Given the description of an element on the screen output the (x, y) to click on. 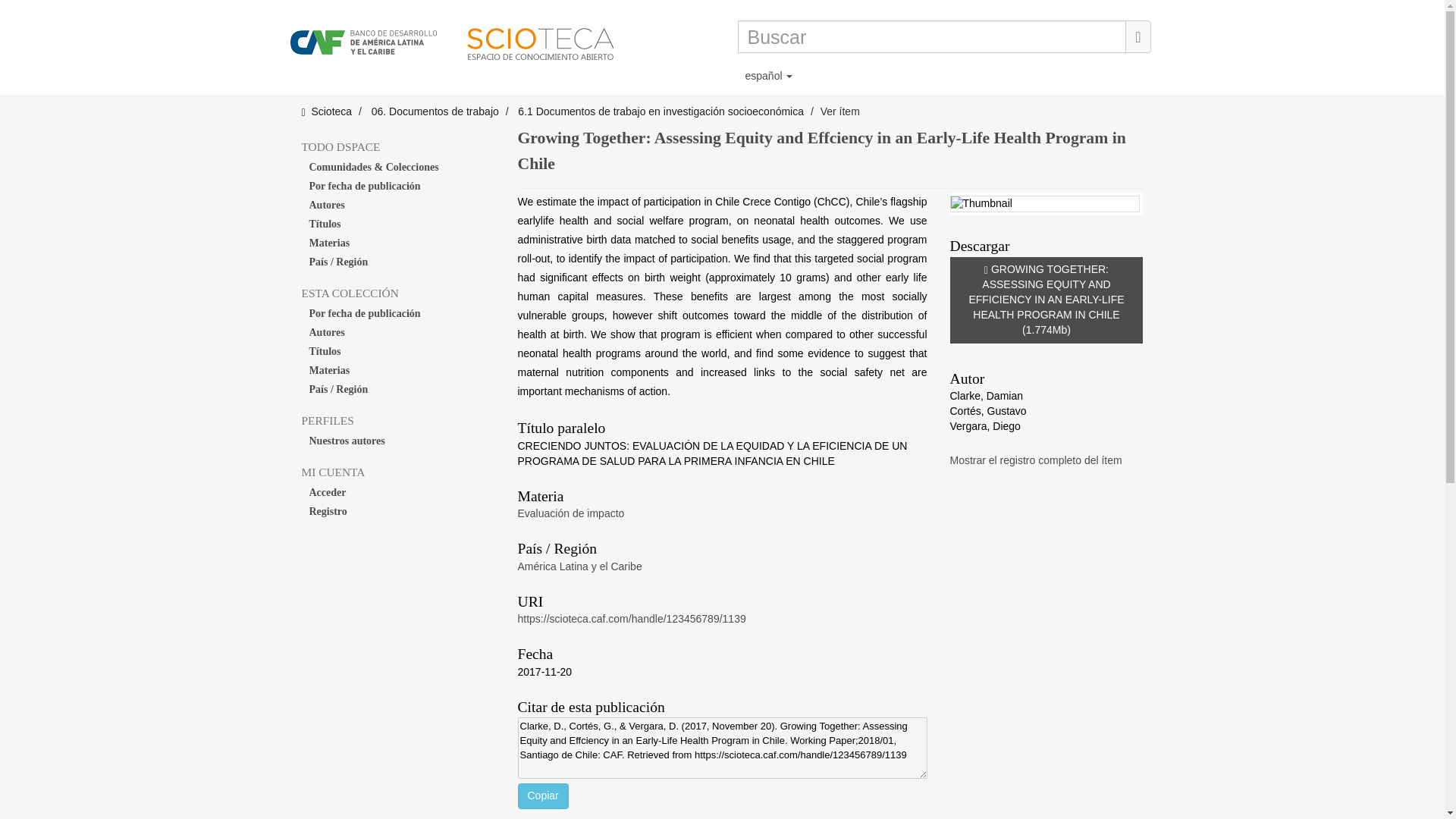
Registro (398, 511)
Copiar (541, 795)
Materias (398, 243)
Materias (398, 370)
Autores (398, 205)
Acceder (398, 492)
Autores (398, 332)
Nuestros autores (398, 441)
Scioteca (331, 111)
06. Documentos de trabajo (435, 111)
